Given the description of an element on the screen output the (x, y) to click on. 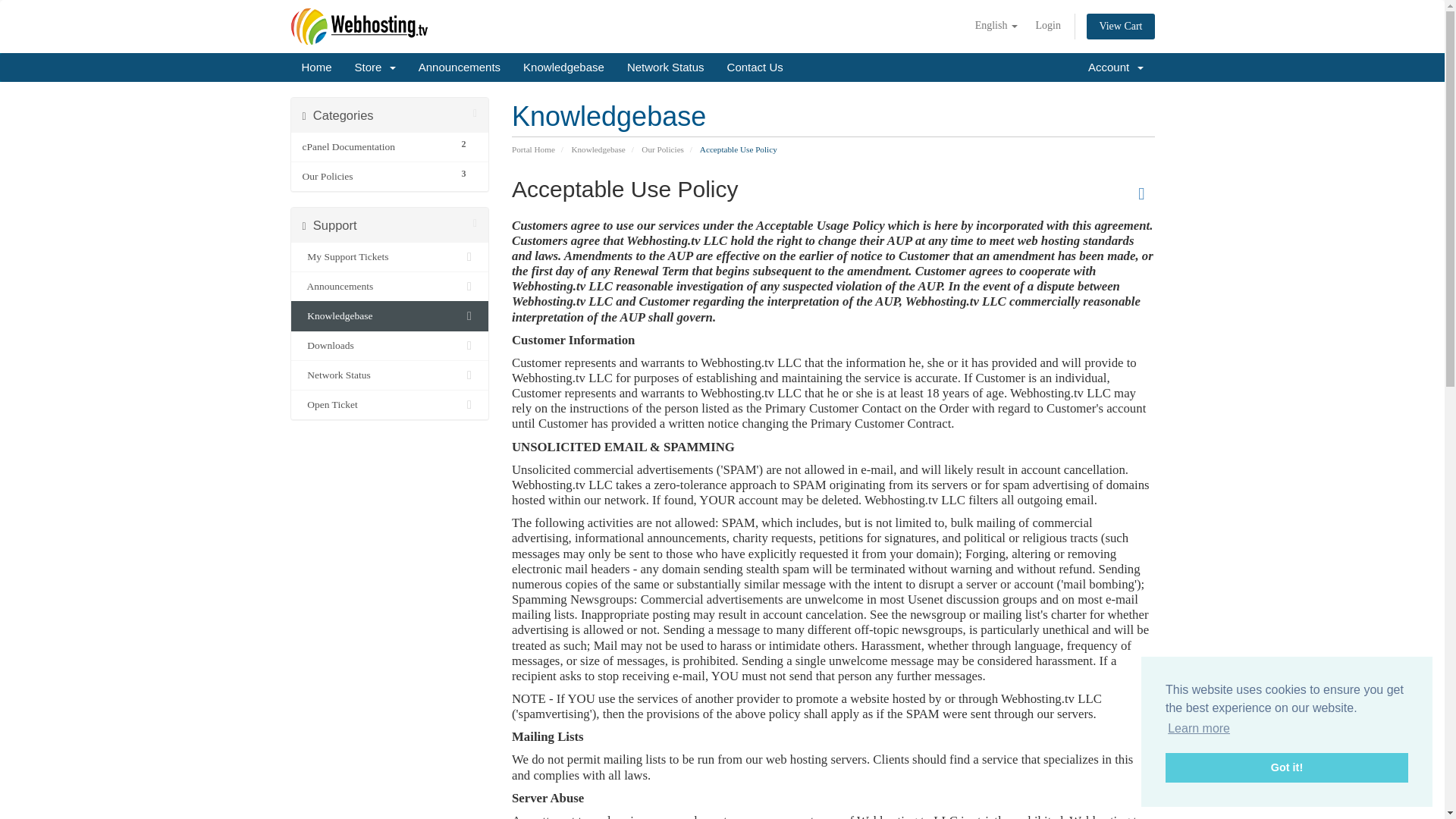
English (996, 25)
Announcements (459, 67)
Learn more (1198, 728)
Got it! (1286, 767)
Login (1047, 25)
Store   (375, 67)
Our Policies (375, 176)
Home (315, 67)
cPanel Documentation (375, 147)
View Cart (1120, 26)
